Given the description of an element on the screen output the (x, y) to click on. 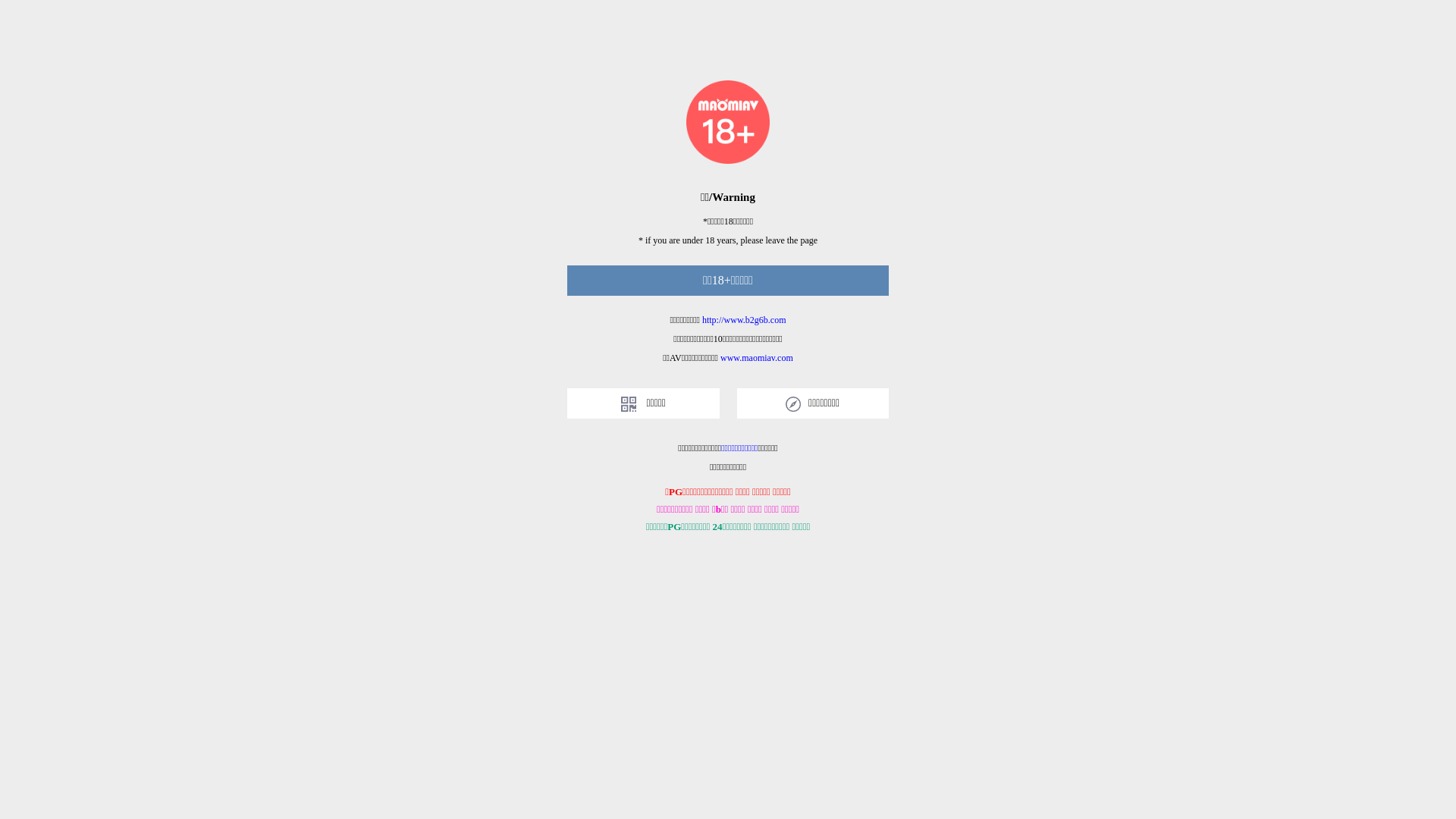
www.maomiav.com Element type: text (756, 357)
http://www.b2g6b.com Element type: text (744, 319)
